Given the description of an element on the screen output the (x, y) to click on. 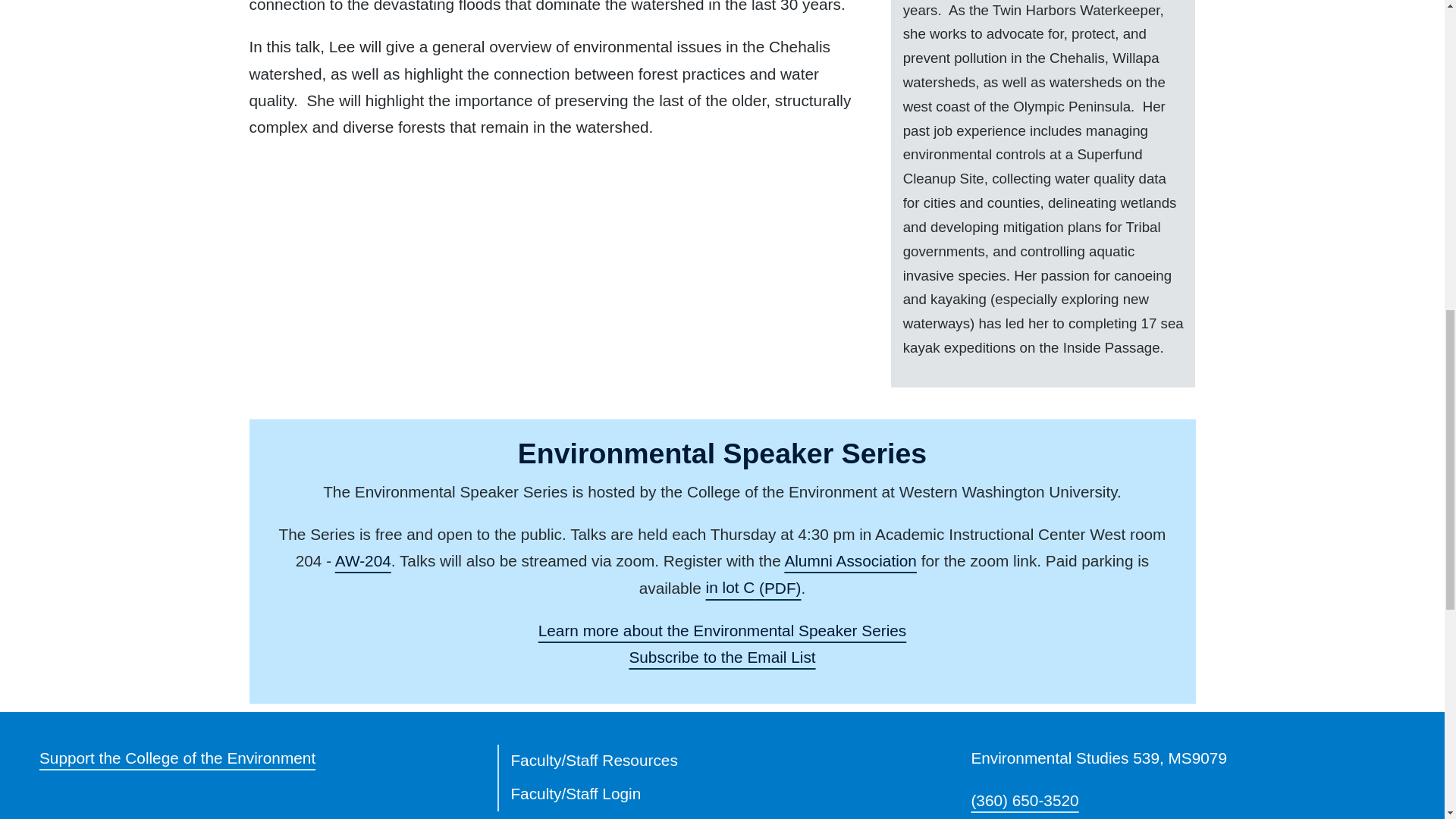
Environmental Speaker Series (722, 630)
Parking map and information PDF (754, 587)
WWU campus map showing location of building AW (362, 560)
